Given the description of an element on the screen output the (x, y) to click on. 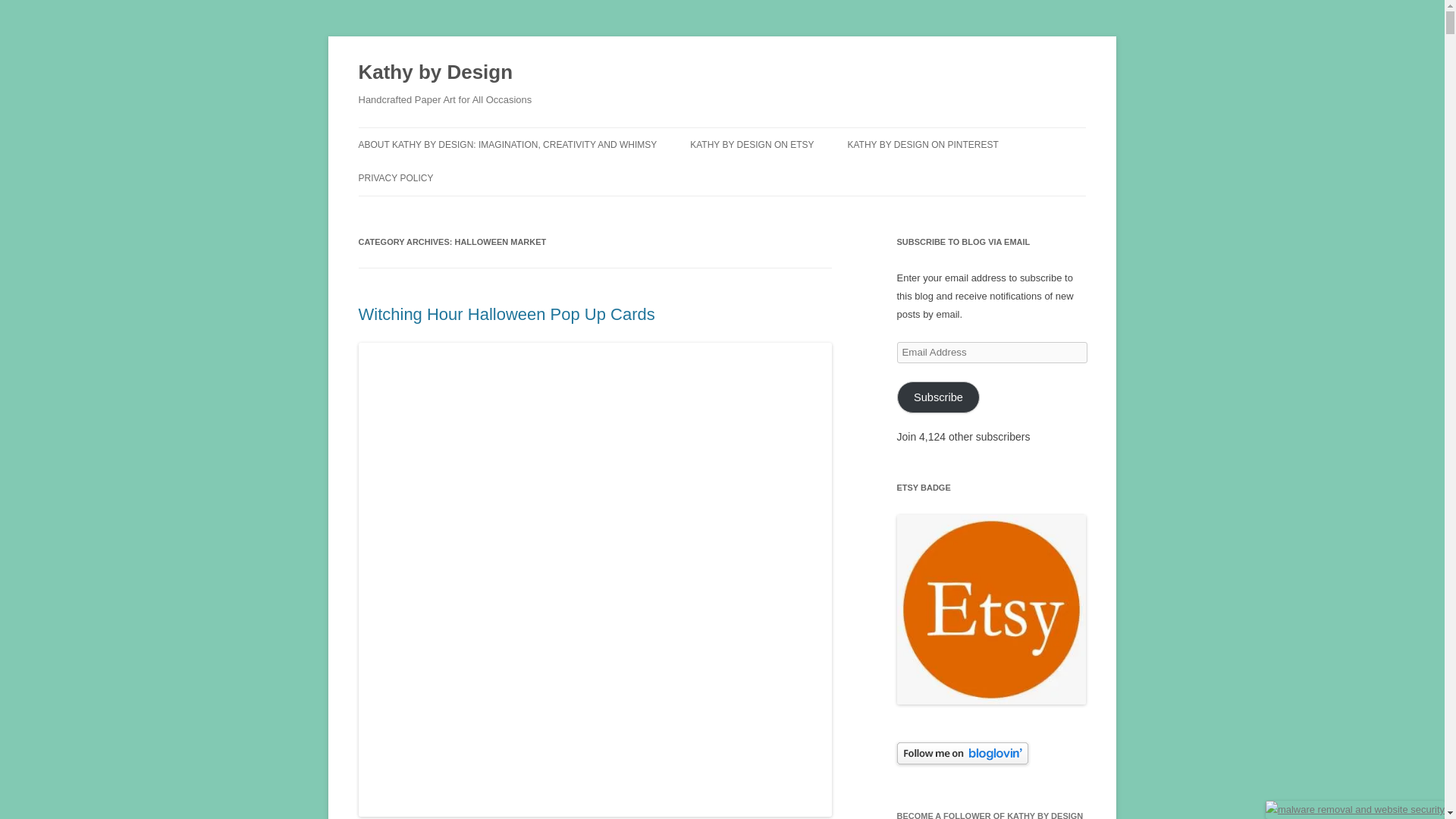
KATHY BY DESIGN ON ETSY (751, 144)
PRIVACY POLICY (395, 177)
Witching Hour Halloween Pop Up Cards (505, 313)
ABOUT KATHY BY DESIGN: IMAGINATION, CREATIVITY AND WHIMSY (507, 144)
KATHY BY DESIGN ON PINTEREST (922, 144)
Kathy by Design (435, 72)
